Given the description of an element on the screen output the (x, y) to click on. 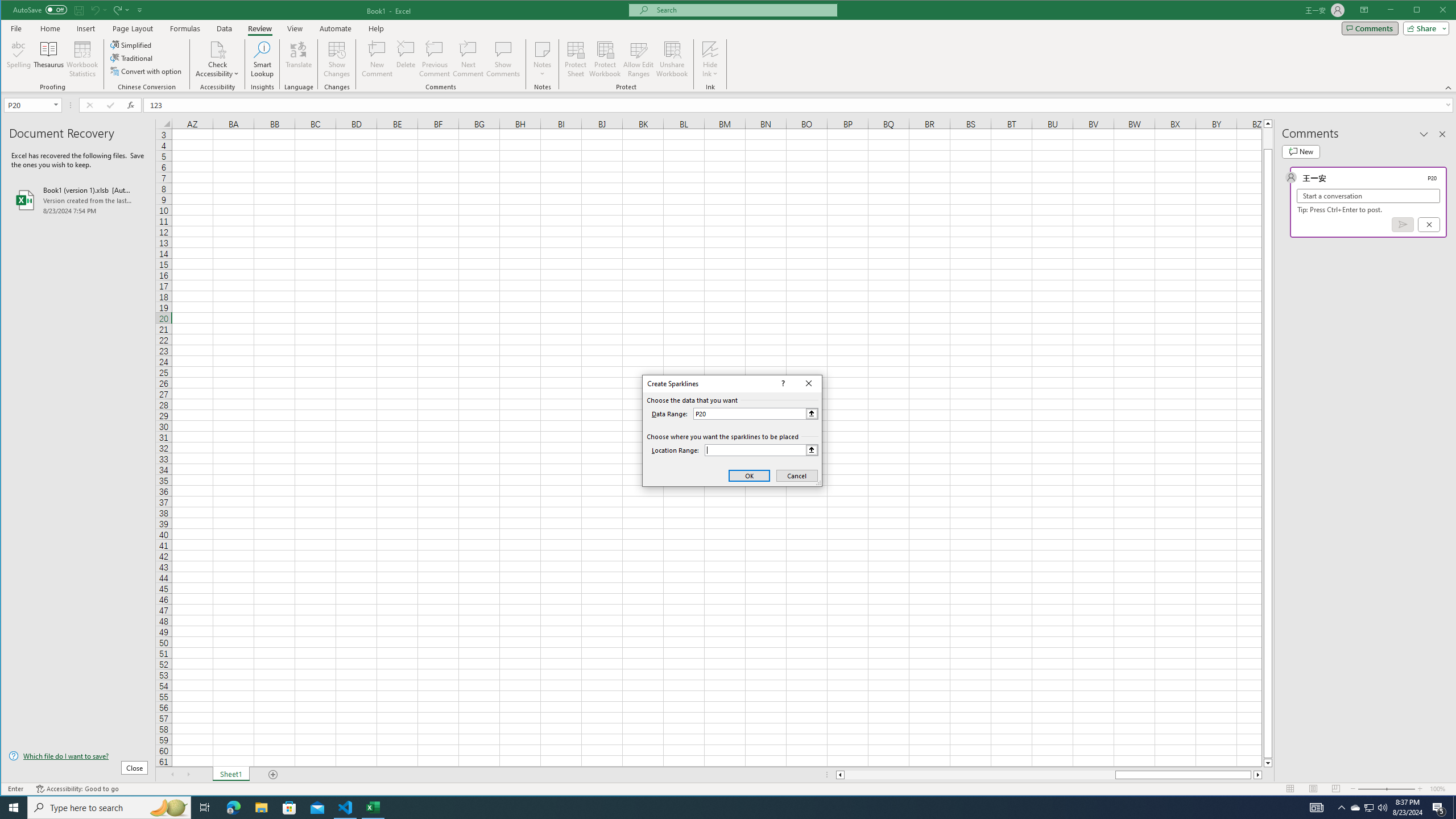
Location Range (761, 449)
Running applications (717, 807)
Visual Studio Code - 1 running window (345, 807)
Microsoft Edge (233, 807)
Automate (336, 28)
Q2790: 100% (1382, 807)
